Given the description of an element on the screen output the (x, y) to click on. 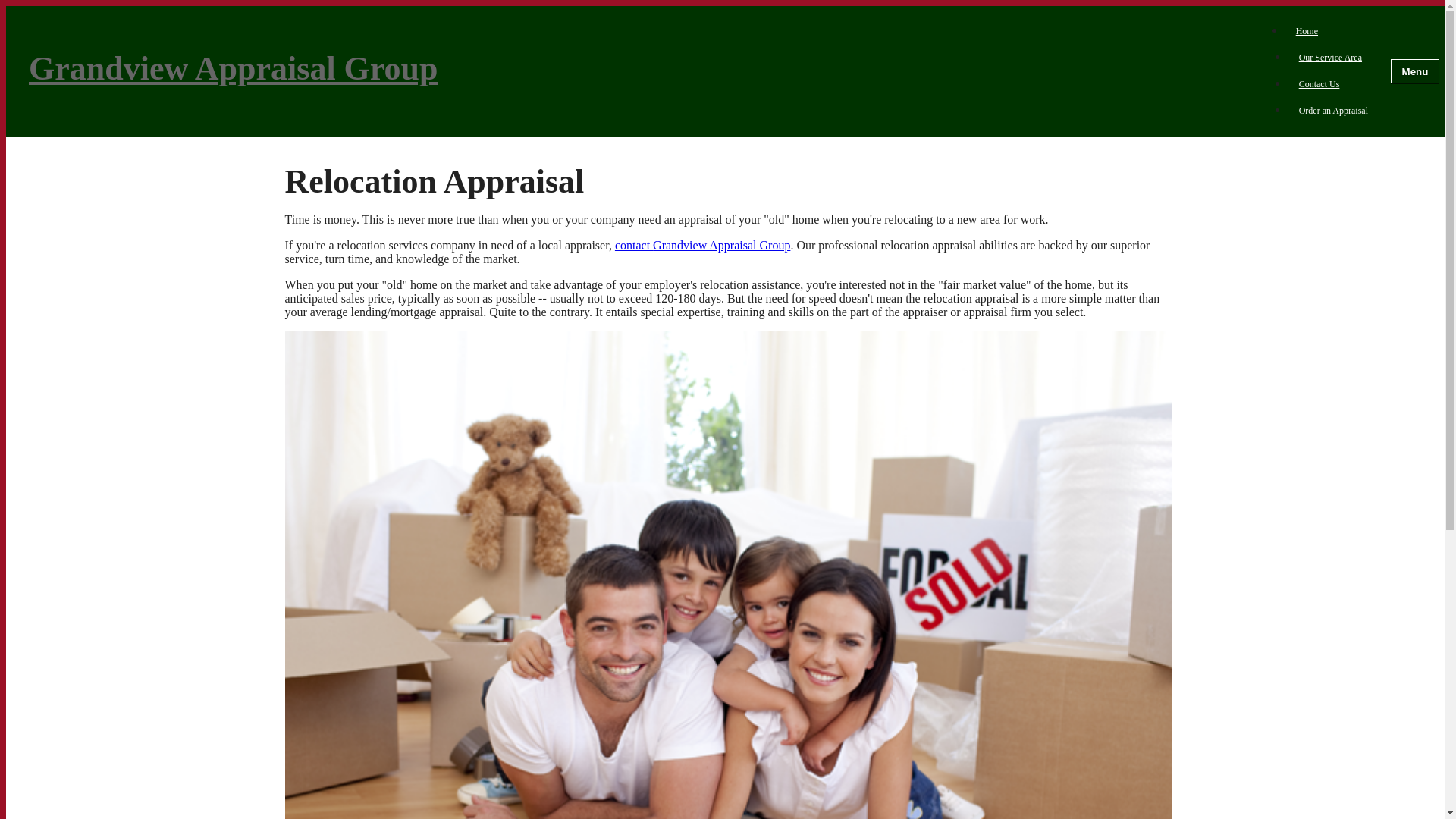
Order an Appraisal (1332, 110)
Grandview Appraisal Group (641, 71)
contact Grandview Appraisal Group (702, 245)
Contact us (702, 245)
Menu (1414, 70)
Home (1306, 30)
Contact Us (1319, 84)
Our Service Area (1330, 57)
